Given the description of an element on the screen output the (x, y) to click on. 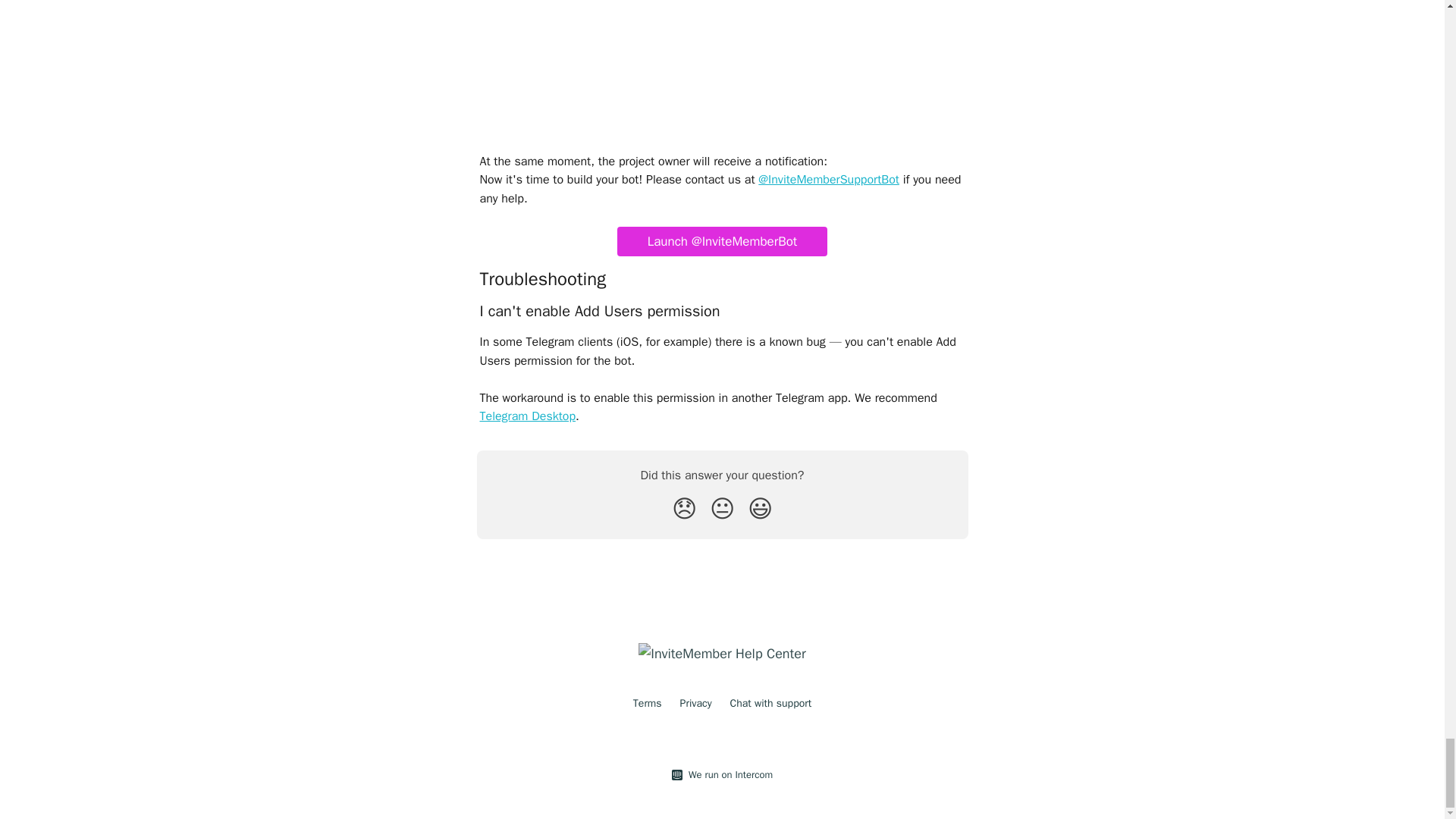
Telegram Desktop (527, 416)
Terms (647, 703)
Disappointed (684, 508)
Smiley (760, 508)
Neutral (722, 508)
